Given the description of an element on the screen output the (x, y) to click on. 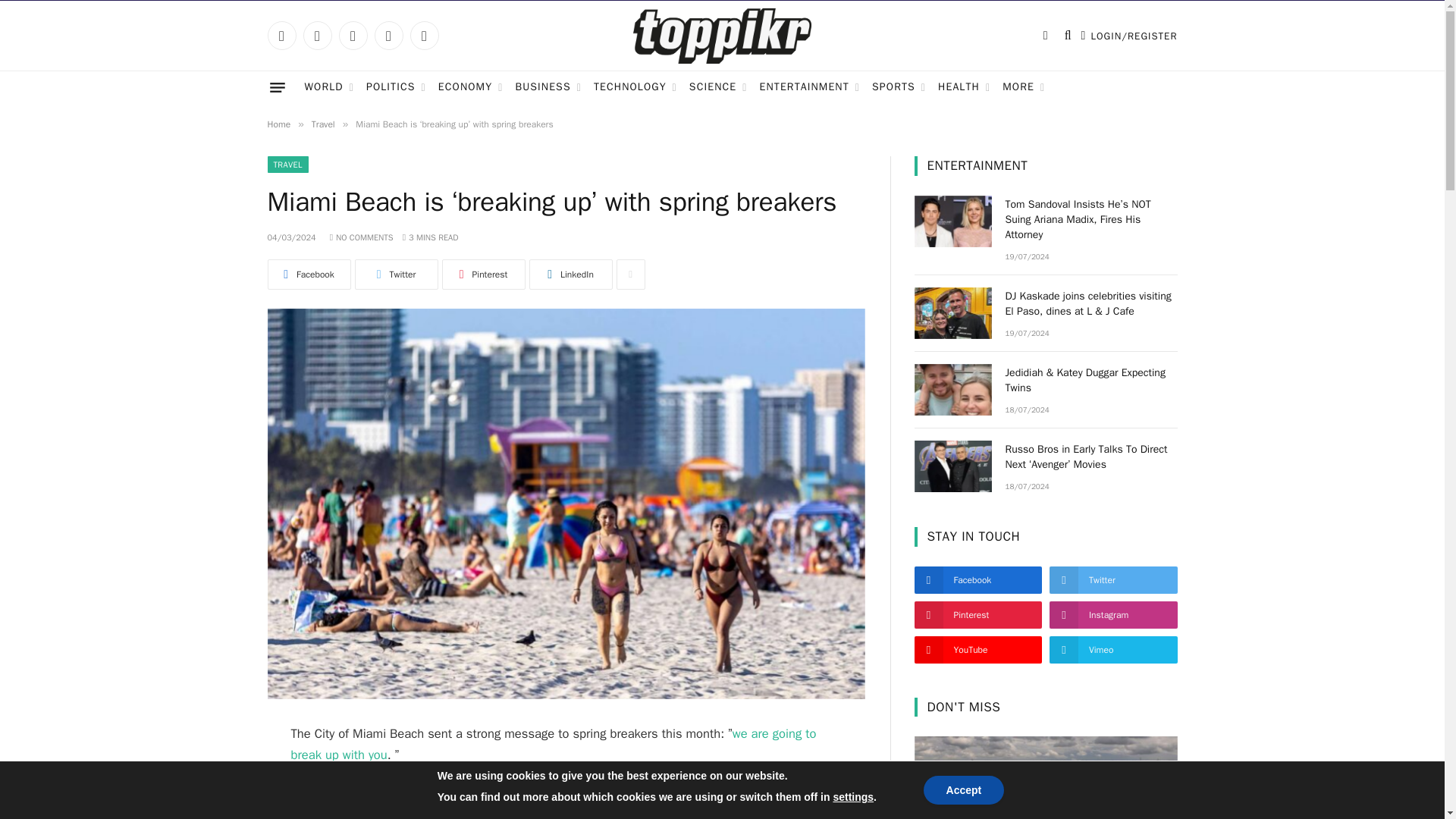
Facebook (280, 35)
Toppikr (721, 35)
Switch to Dark Design - easier on eyes. (1045, 35)
